Given the description of an element on the screen output the (x, y) to click on. 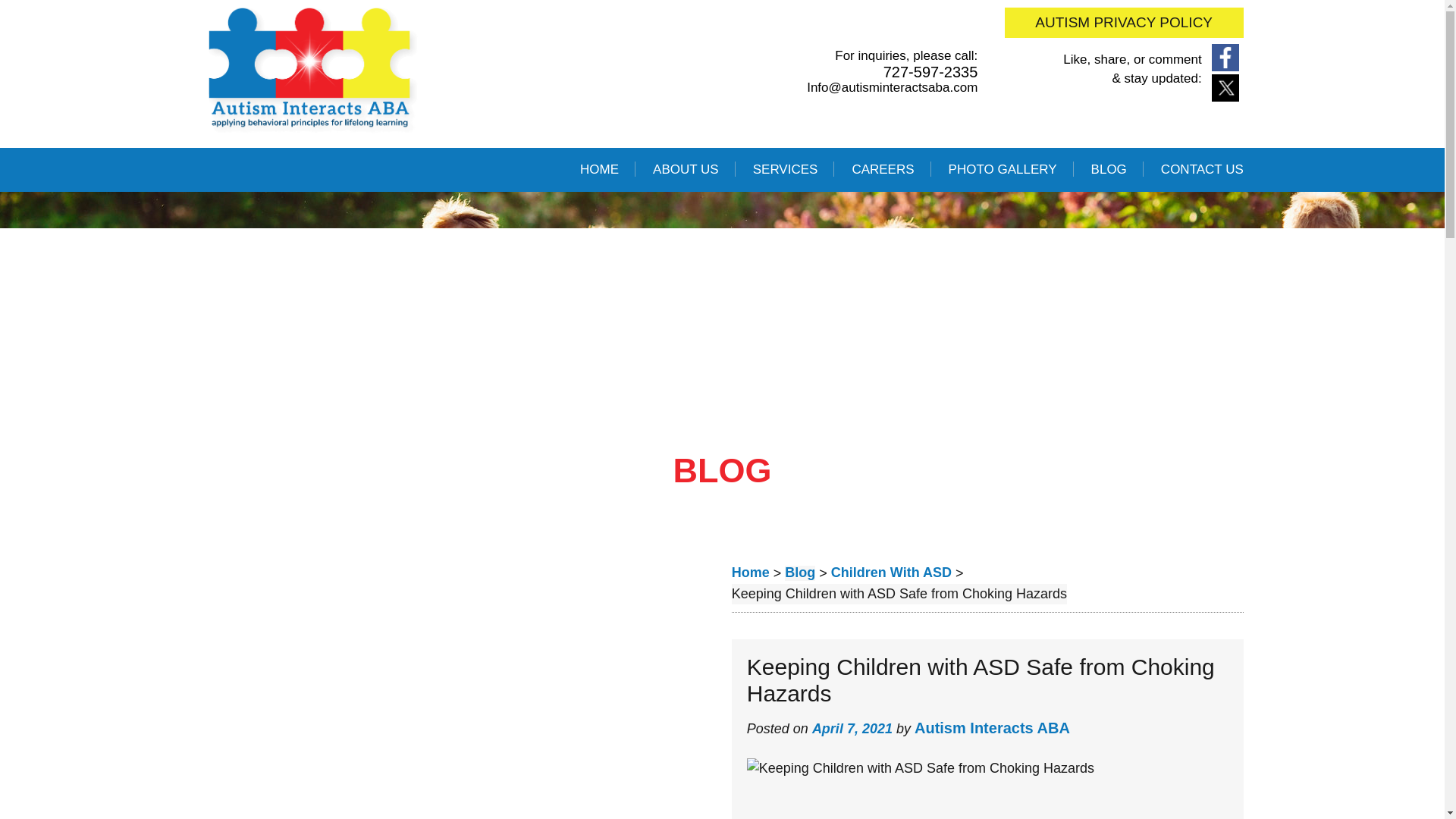
Go to Home. (751, 572)
ABOUT US (685, 169)
Go to Blog. (799, 572)
Home (751, 572)
AUTISM PRIVACY POLICY (1123, 22)
Go to the Children With ASD category archives. (891, 572)
CAREERS (882, 169)
SERVICES (785, 169)
CONTACT US (1201, 169)
Children With ASD (891, 572)
